Given the description of an element on the screen output the (x, y) to click on. 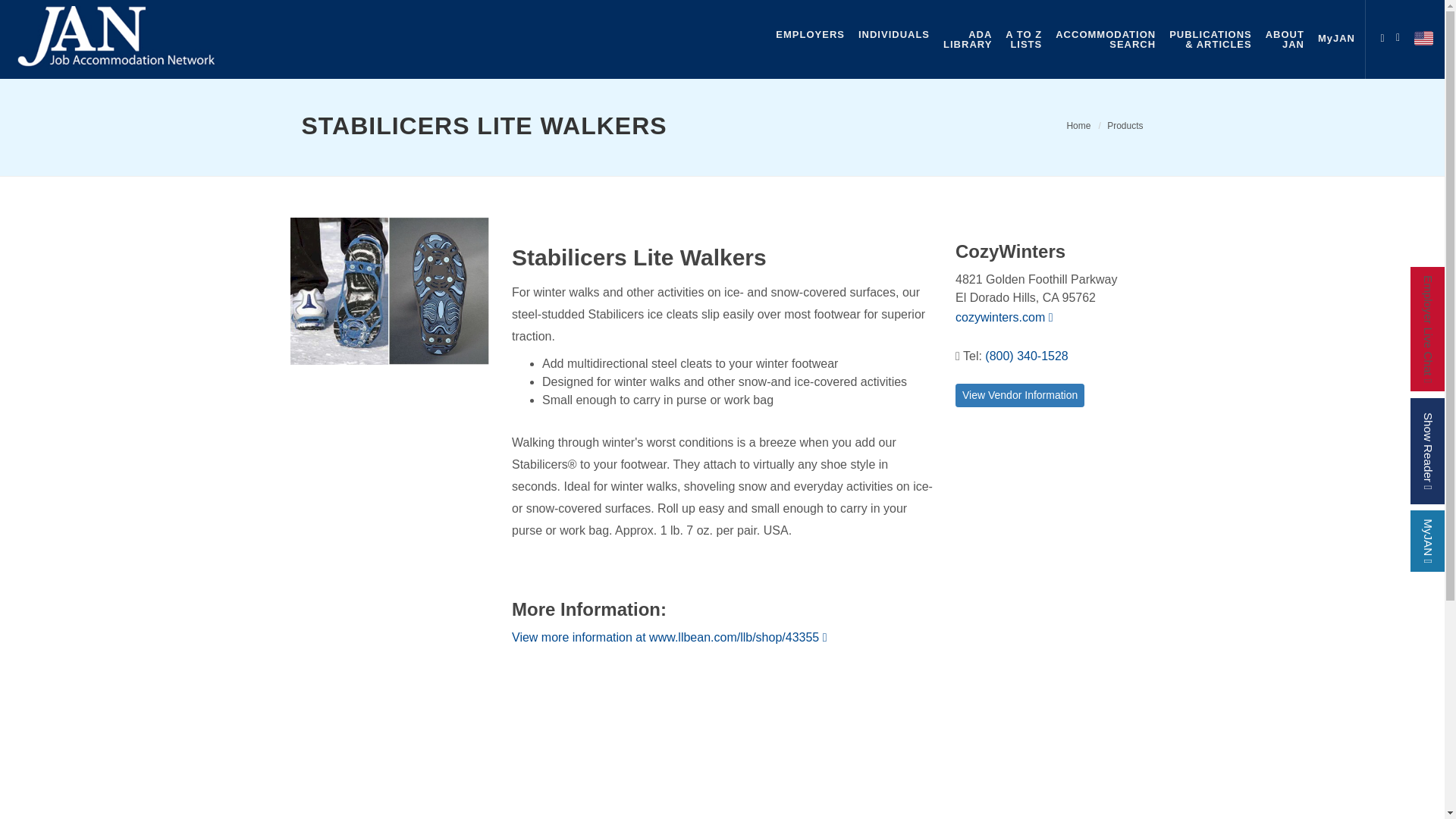
Open Menu (1382, 35)
Products (1124, 125)
INDIVIDUALS (1105, 39)
Open Search (893, 34)
Home (1401, 35)
EMPLOYERS (1077, 125)
